Given the description of an element on the screen output the (x, y) to click on. 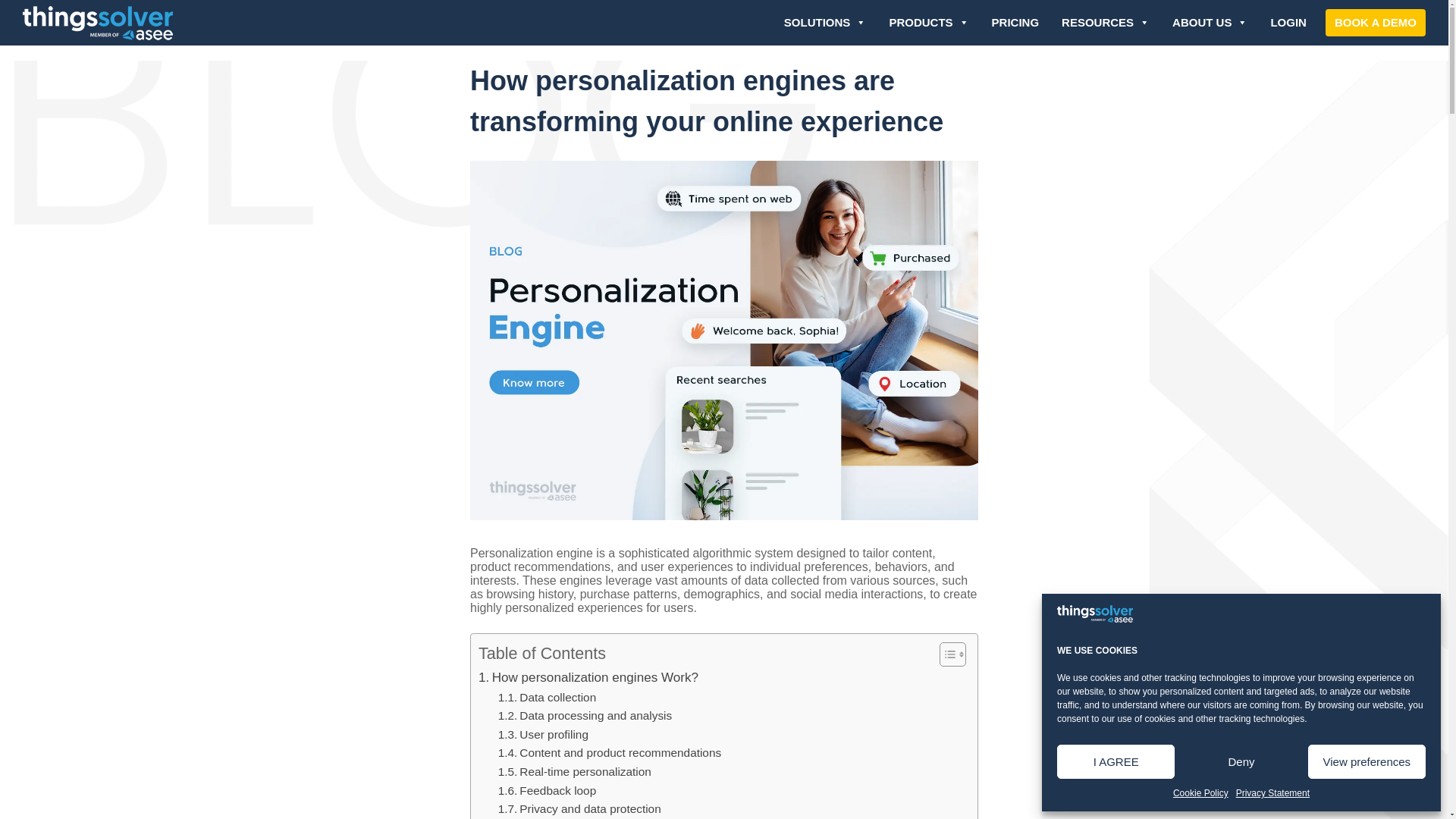
How personalization engines Work? (588, 677)
PRODUCTS (928, 22)
Content and product recommendations (609, 752)
Things Solver Enlighten your data (89, 23)
Privacy and data protection (579, 809)
Real-time personalization (573, 772)
Privacy Statement (1272, 793)
Feedback loop (546, 791)
SOLUTIONS (825, 22)
Cookie Policy (1200, 793)
Data processing and analysis (584, 715)
Deny (1241, 761)
View preferences (1366, 761)
Data collection (546, 697)
User profiling (542, 734)
